Given the description of an element on the screen output the (x, y) to click on. 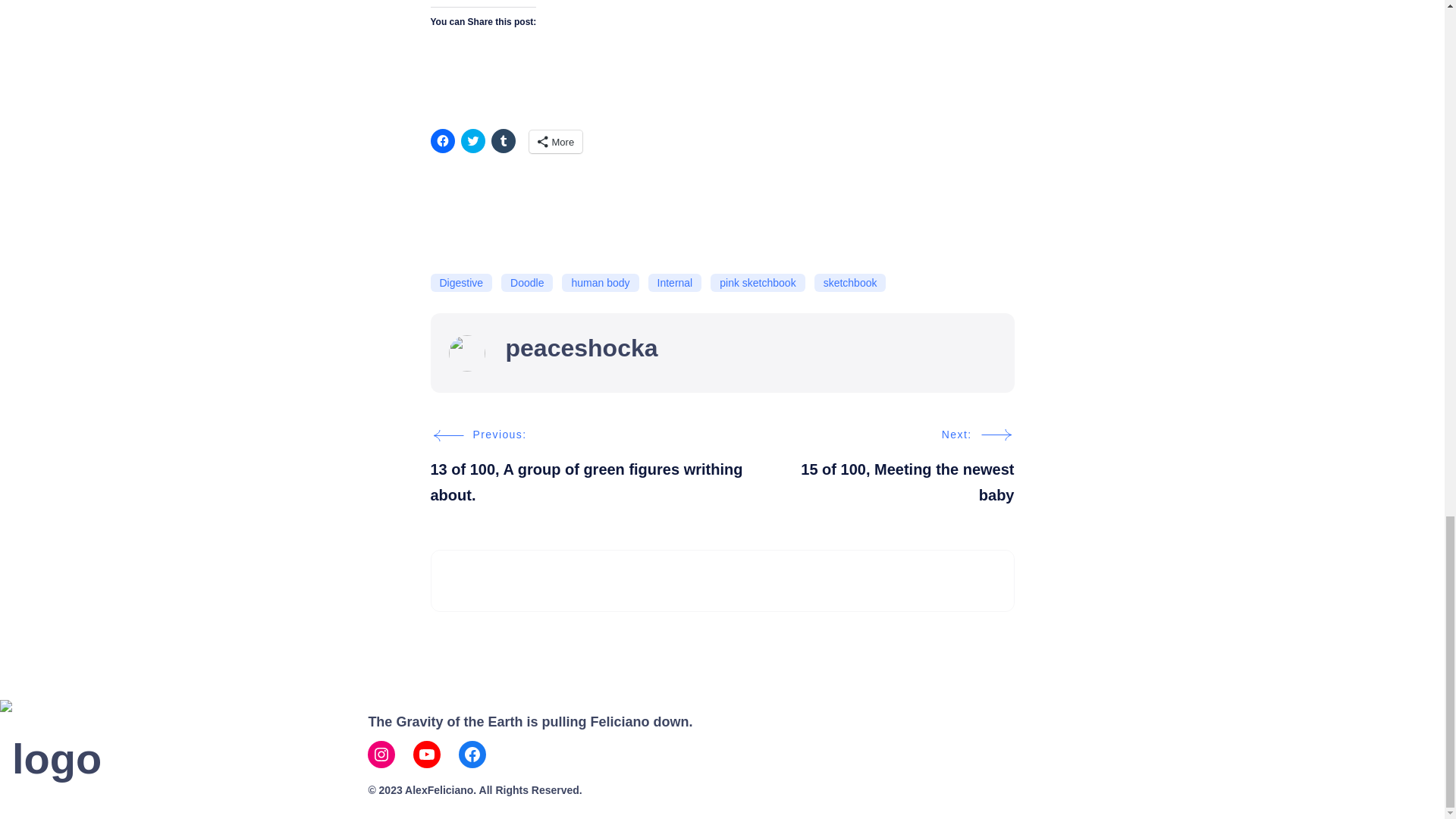
YouTube (427, 754)
Click to share on Twitter (472, 140)
More (556, 141)
Internal (674, 281)
Instagram (381, 754)
Doodle (526, 281)
Click to share on Tumblr (503, 140)
sketchbook (849, 281)
Facebook (472, 754)
